Given the description of an element on the screen output the (x, y) to click on. 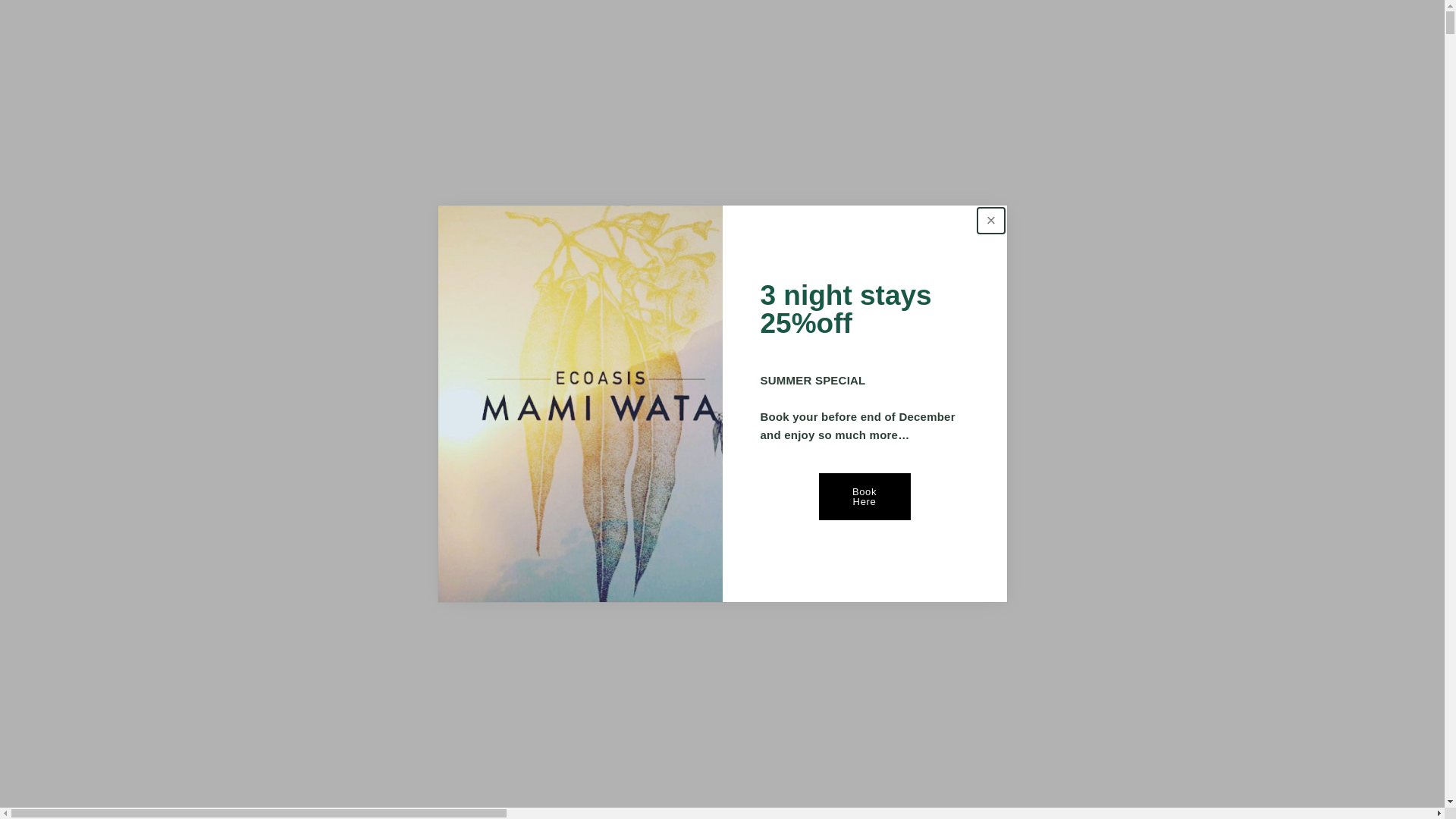
Book Here Element type: text (864, 496)
